Given the description of an element on the screen output the (x, y) to click on. 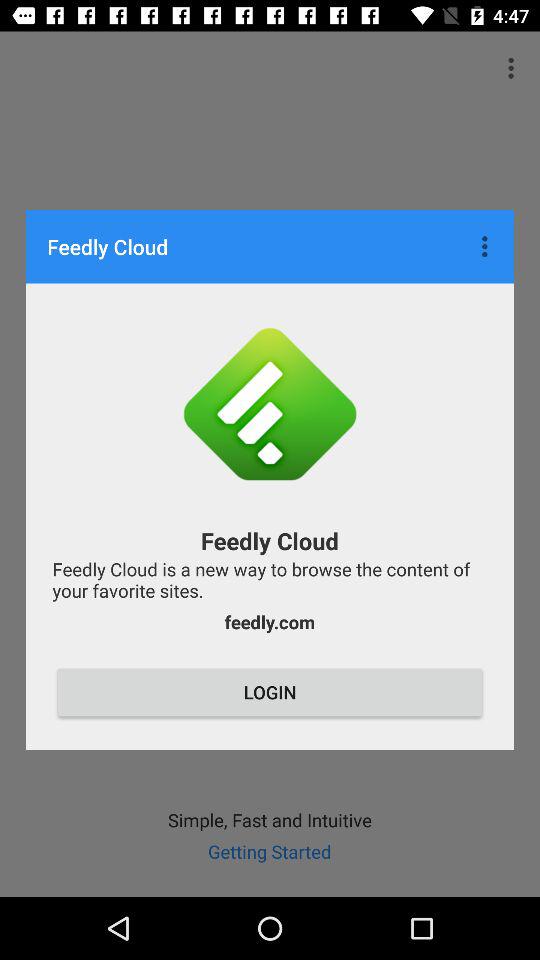
launch login (269, 691)
